Given the description of an element on the screen output the (x, y) to click on. 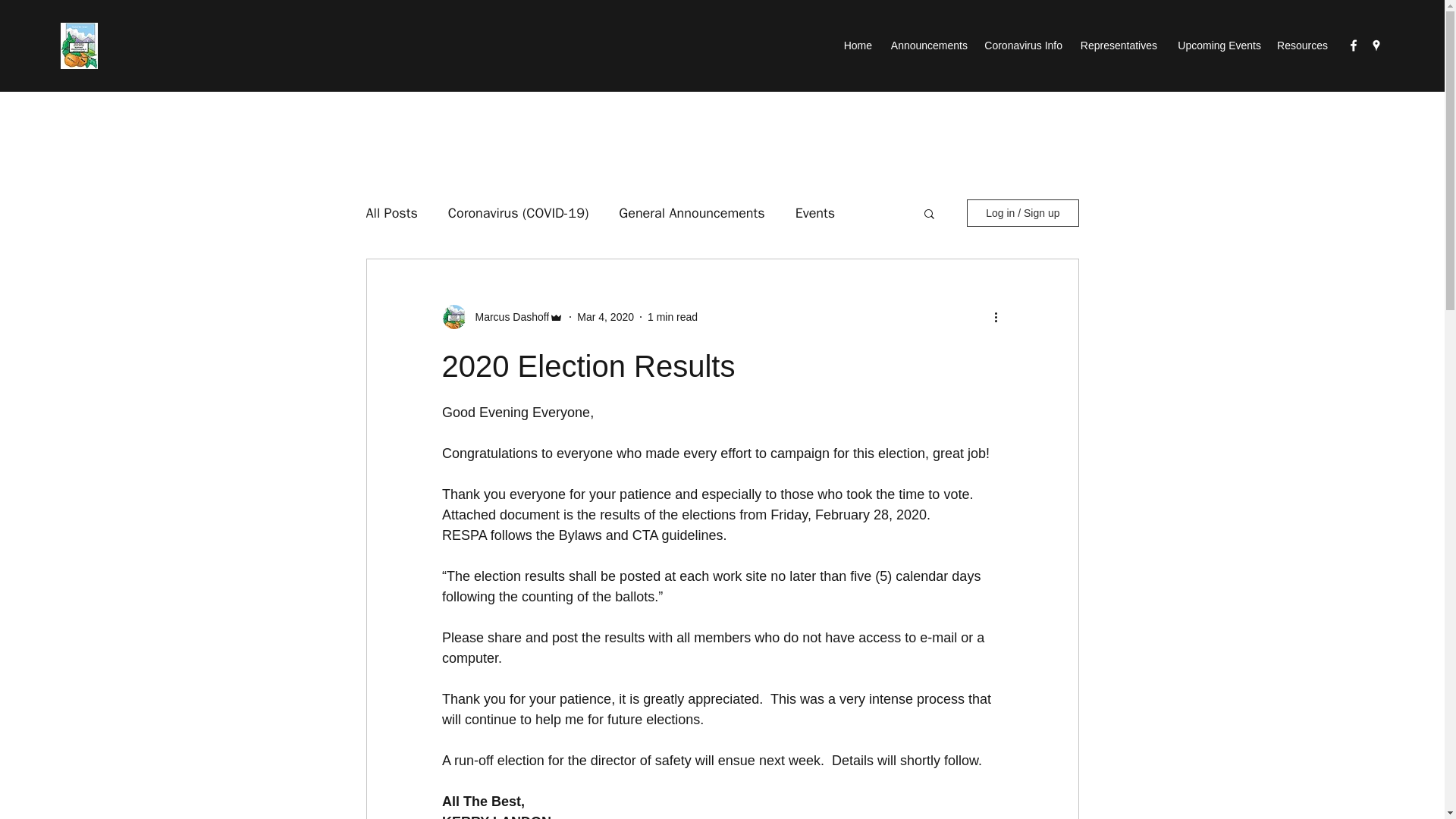
Resources (1301, 45)
Events (814, 212)
Marcus Dashoff (506, 317)
1 min read (672, 316)
General Announcements (691, 212)
Mar 4, 2020 (604, 316)
Upcoming Events (1216, 45)
Announcements (927, 45)
Home (856, 45)
Coronavirus Info (1022, 45)
All Posts (390, 212)
Representatives (1117, 45)
